Given the description of an element on the screen output the (x, y) to click on. 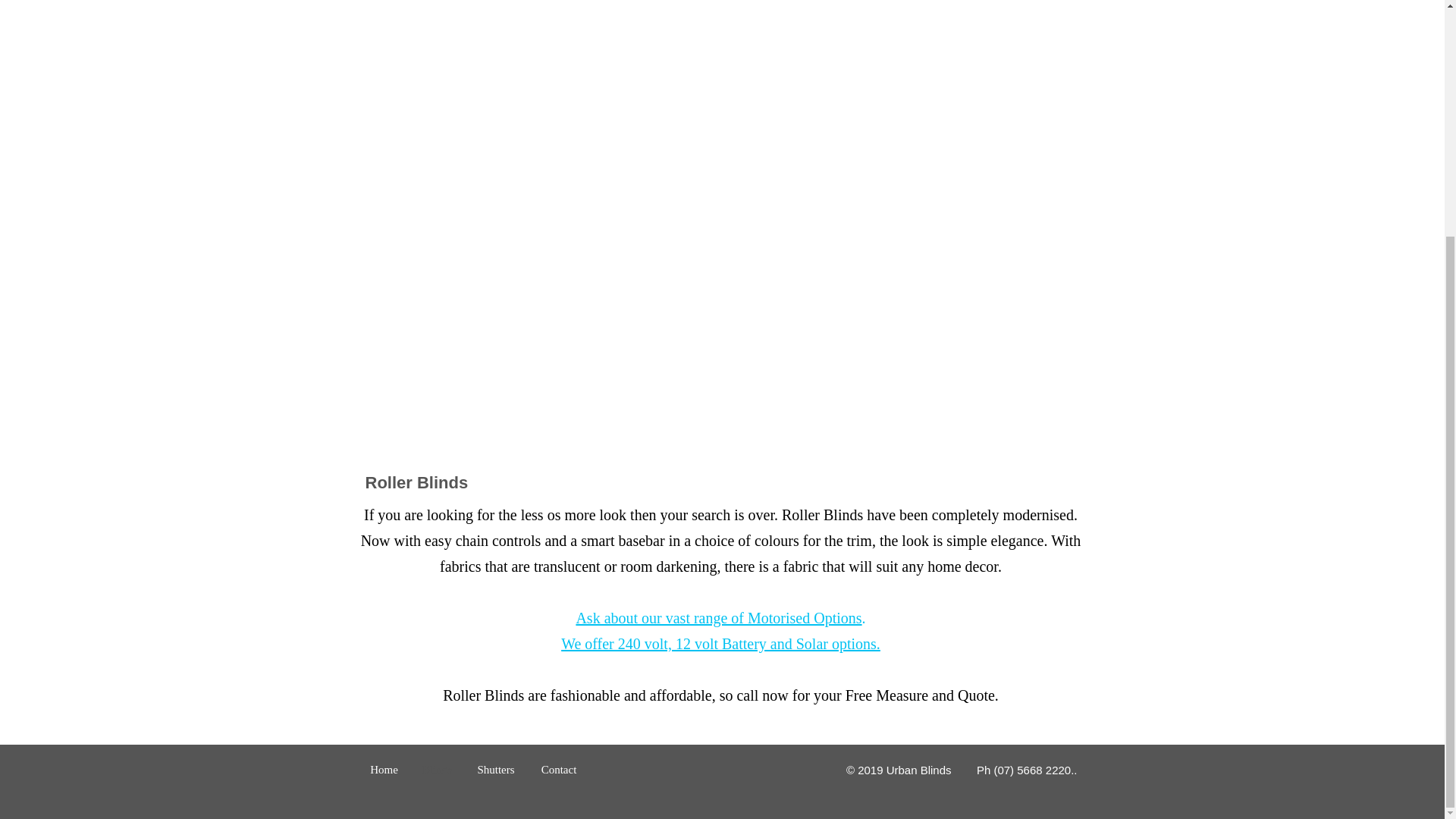
Home (384, 769)
Blinds (437, 769)
Contact (558, 769)
We offer 240 volt, 12 volt Battery and Solar options. (720, 643)
Shutters (496, 769)
Ask about our vast range of Motorised Options (718, 617)
